Given the description of an element on the screen output the (x, y) to click on. 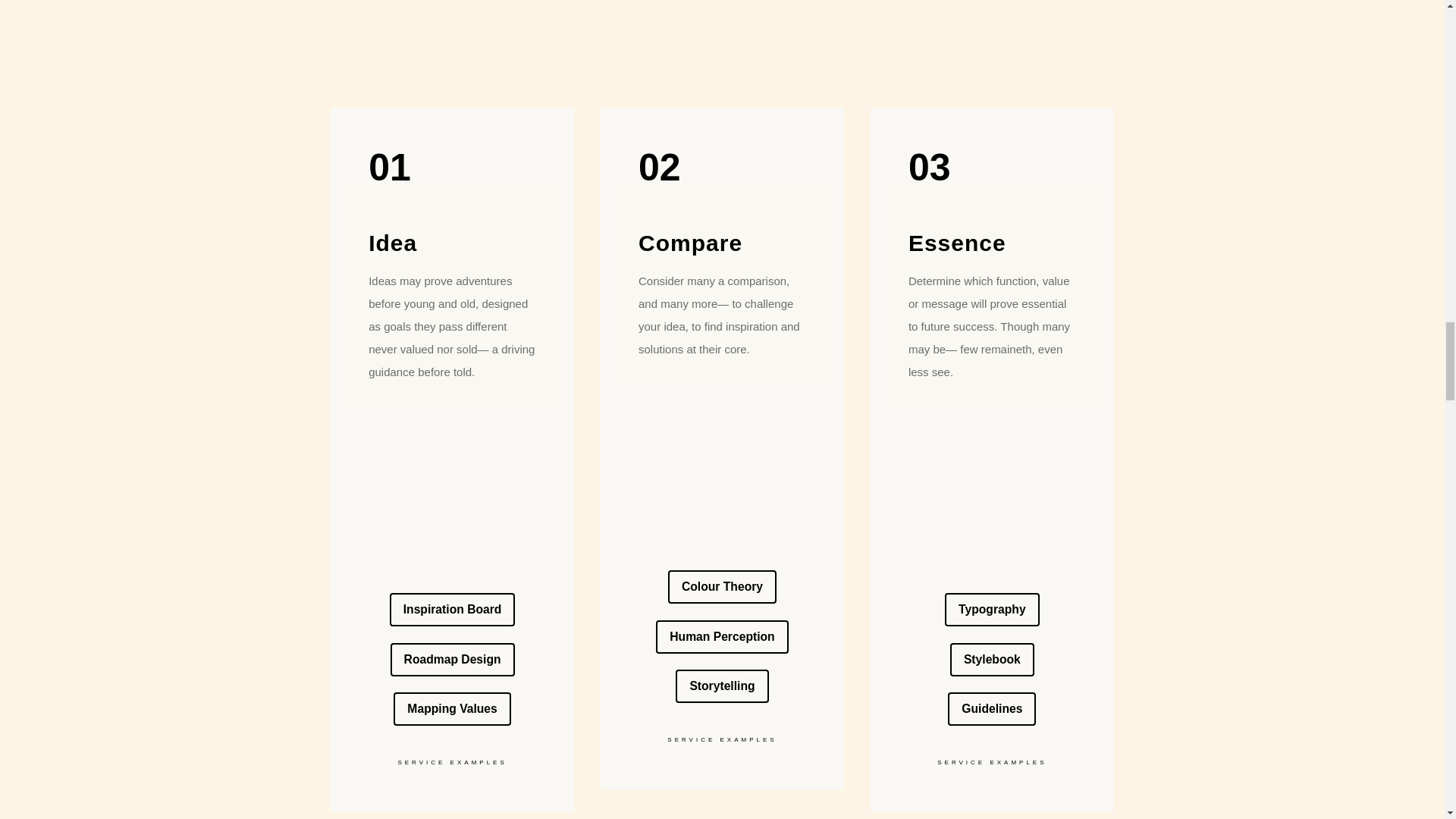
Mapping Values (452, 708)
Colour Theory (722, 586)
Roadmap Design (452, 659)
Storytelling (721, 685)
Stylebook (991, 659)
Inspiration Board (452, 609)
Human Perception (721, 636)
Typography (991, 609)
Guidelines (991, 708)
